Given the description of an element on the screen output the (x, y) to click on. 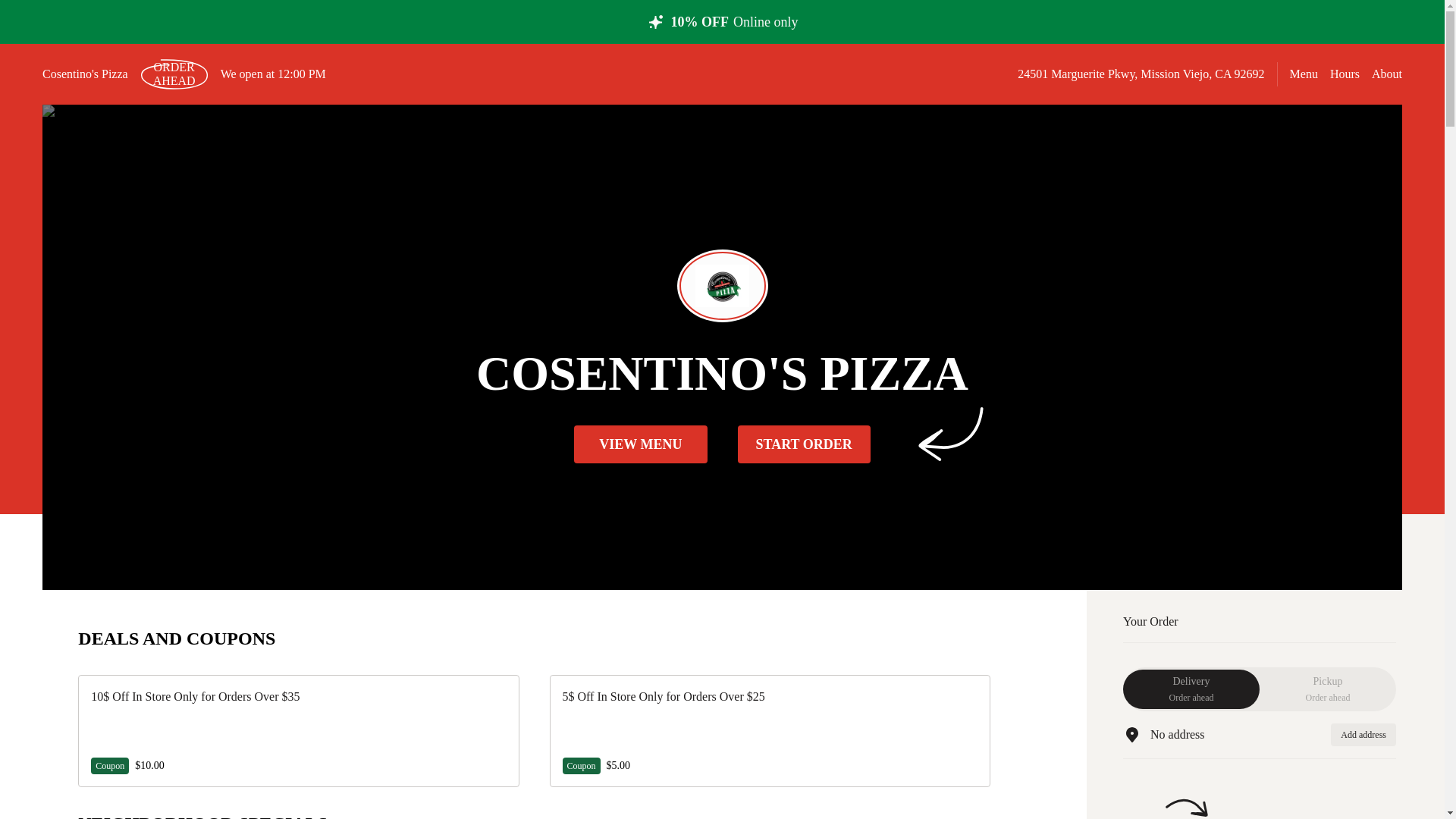
START ORDER (802, 444)
ORDER AHEAD (1190, 689)
Hours (173, 73)
VIEW MENU (1344, 74)
Menu (639, 444)
About (1303, 73)
Add address (1386, 73)
